Given the description of an element on the screen output the (x, y) to click on. 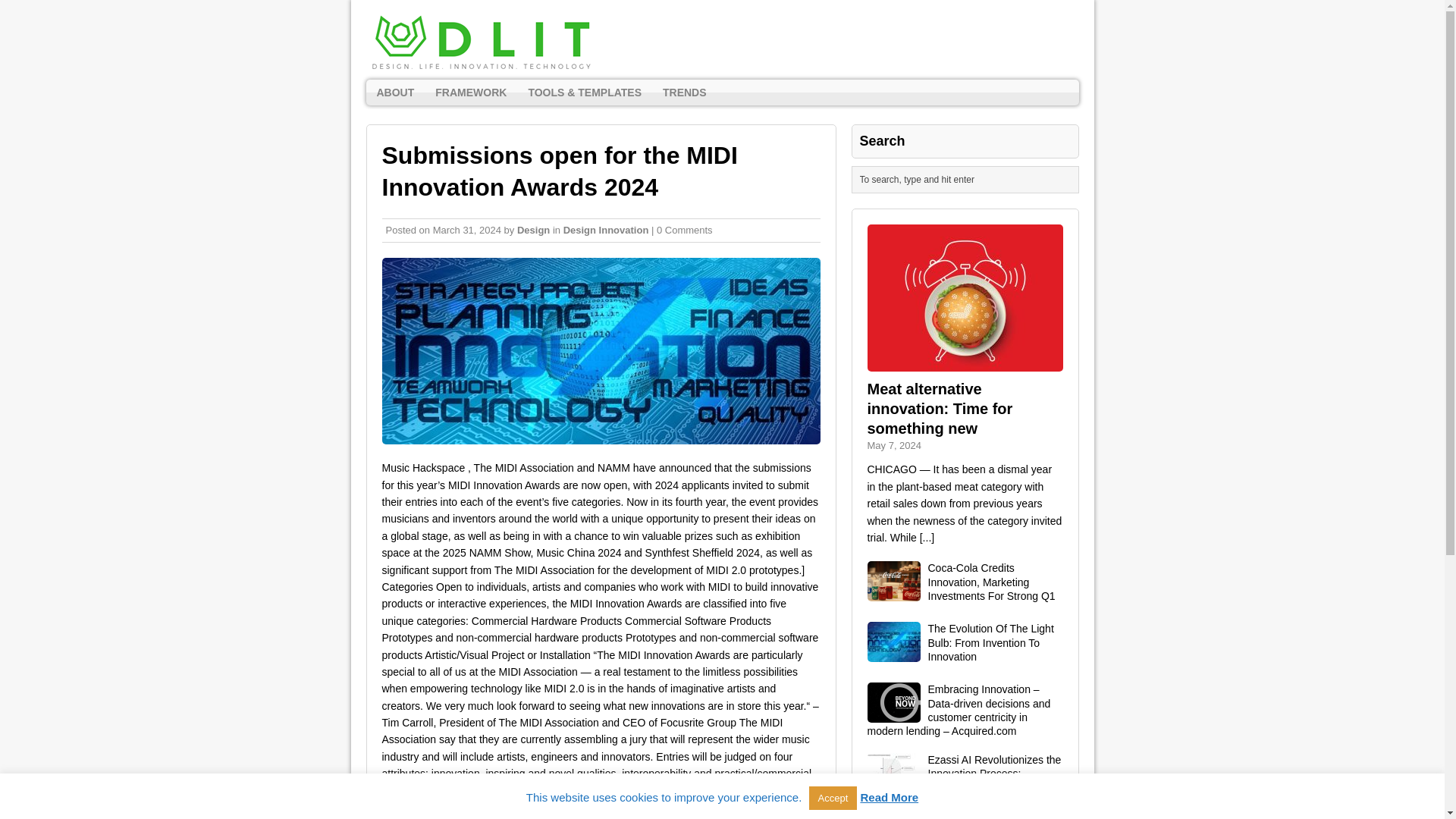
Meat alternative innovation: Time for something new (927, 537)
Meat alternative innovation: Time for something new (940, 408)
Meat alternative innovation: Time for something new (964, 363)
innovation DLIT (601, 350)
Design Innovation (606, 229)
To search, type and hit enter (968, 179)
FRAMEWORK (470, 92)
ABOUT (395, 92)
Design (533, 229)
DLIT (721, 39)
TRENDS (684, 92)
Meat alternative innovation: Time for something new (940, 408)
